Given the description of an element on the screen output the (x, y) to click on. 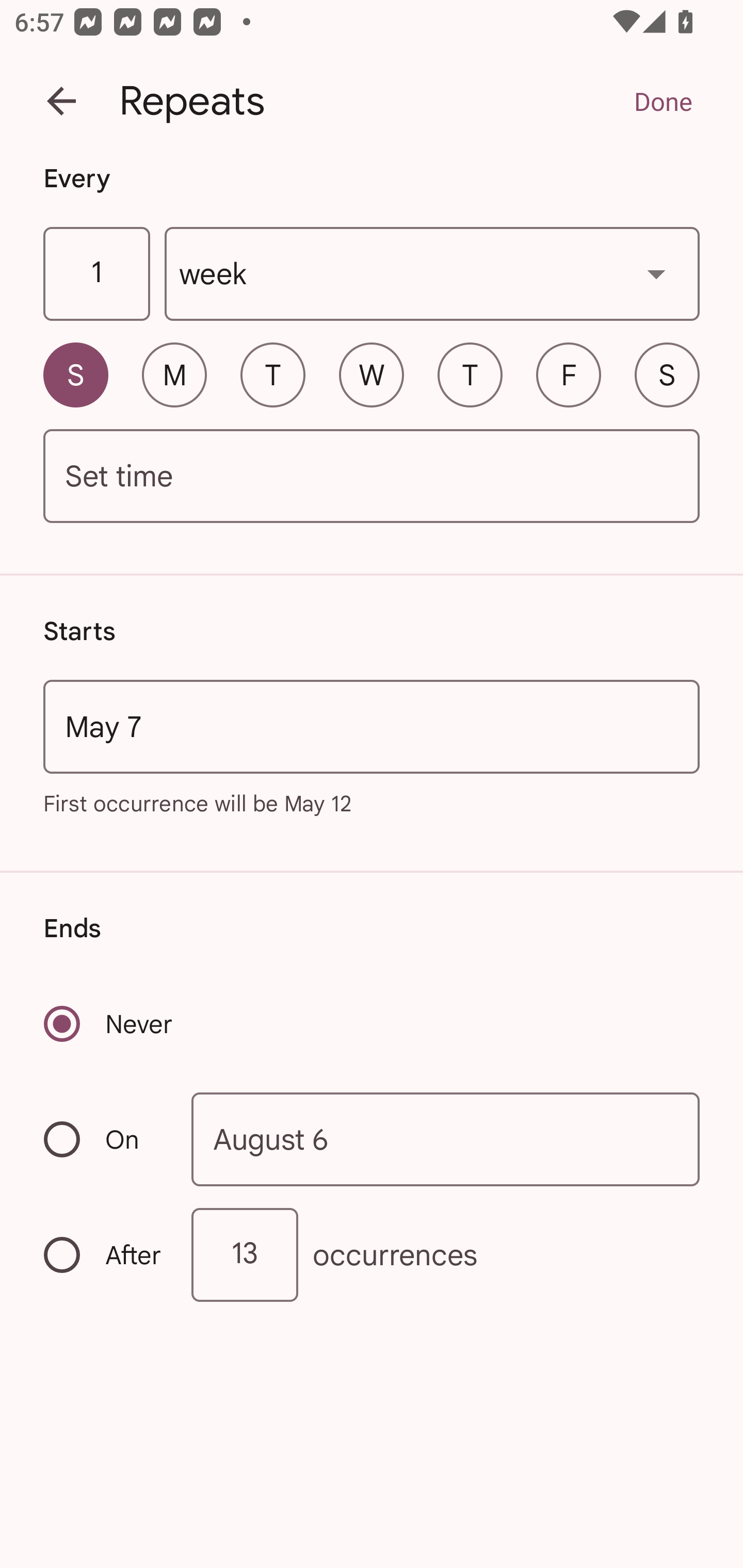
Back (61, 101)
Done (663, 101)
1 (96, 274)
week (431, 274)
Show dropdown menu (655, 273)
S Sunday, selected (75, 374)
M Monday (173, 374)
T Tuesday (272, 374)
W Wednesday (371, 374)
T Thursday (469, 374)
F Friday (568, 374)
S Saturday (666, 374)
Set time (371, 476)
May 7 (371, 726)
Never Recurrence never ends (109, 1023)
August 6 (445, 1139)
On Recurrence ends on a specific date (104, 1138)
13 (244, 1254)
